Given the description of an element on the screen output the (x, y) to click on. 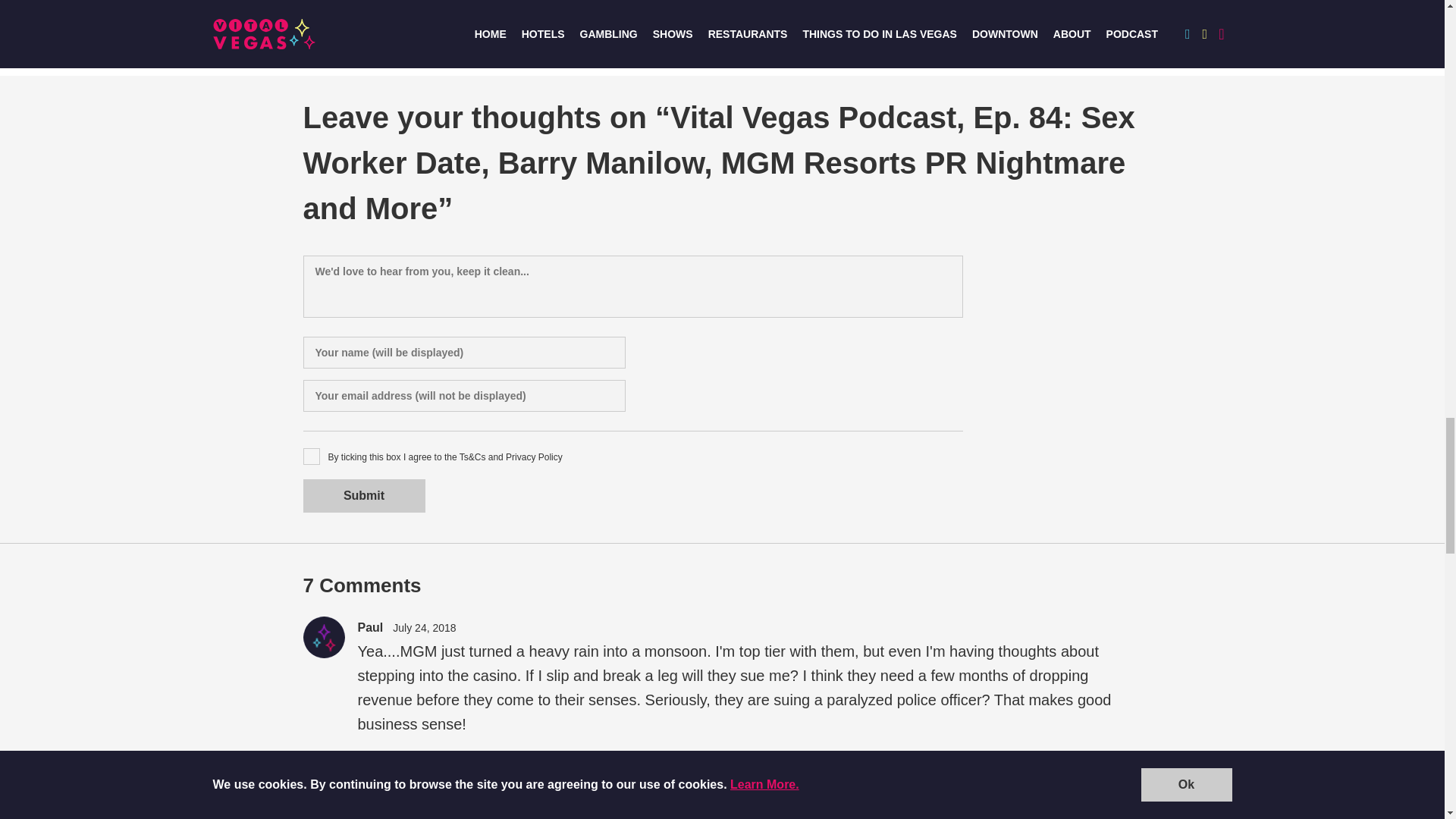
Reply (413, 767)
Read More (768, 9)
Submit (363, 495)
